Given the description of an element on the screen output the (x, y) to click on. 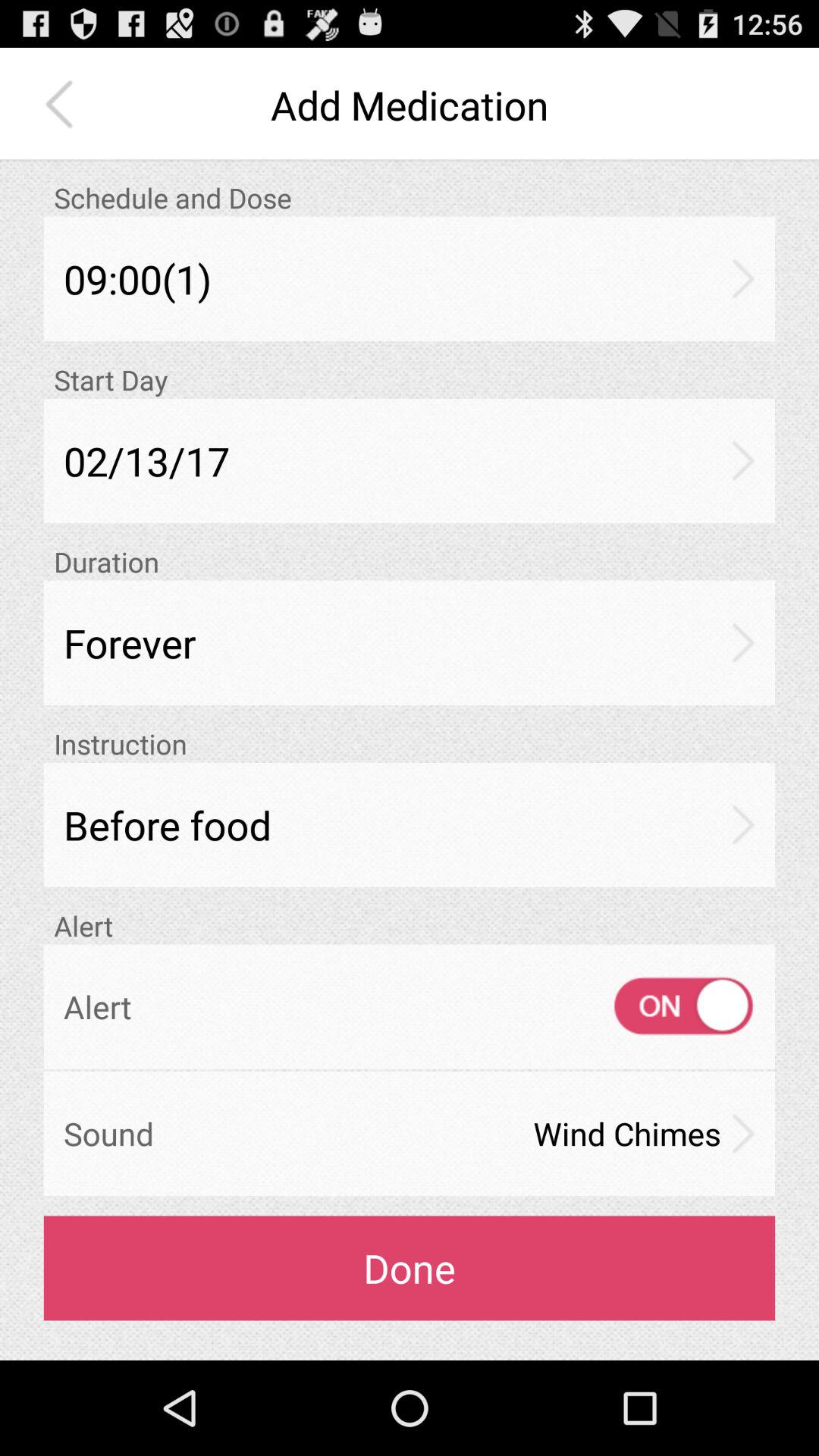
turn on the 09:00(1) item (409, 278)
